Given the description of an element on the screen output the (x, y) to click on. 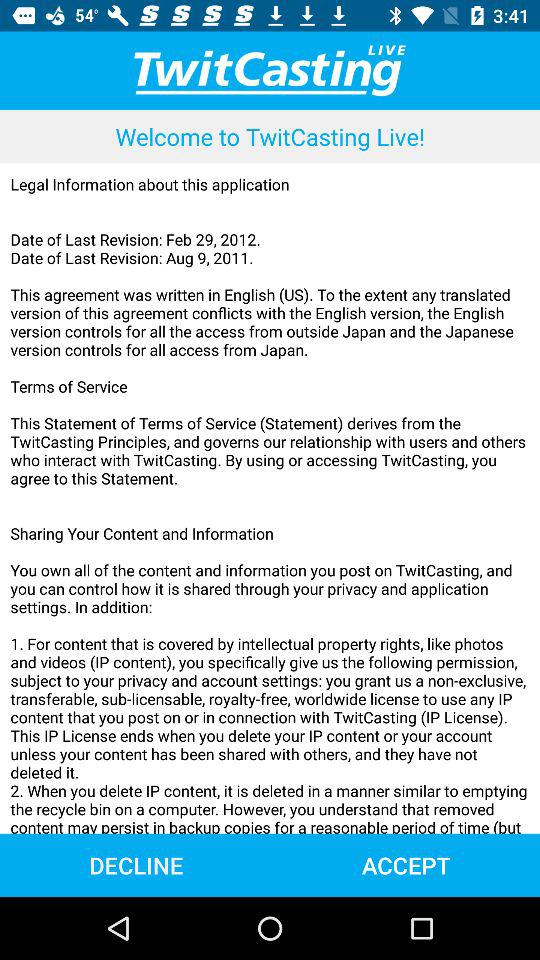
launch item next to decline item (406, 864)
